Given the description of an element on the screen output the (x, y) to click on. 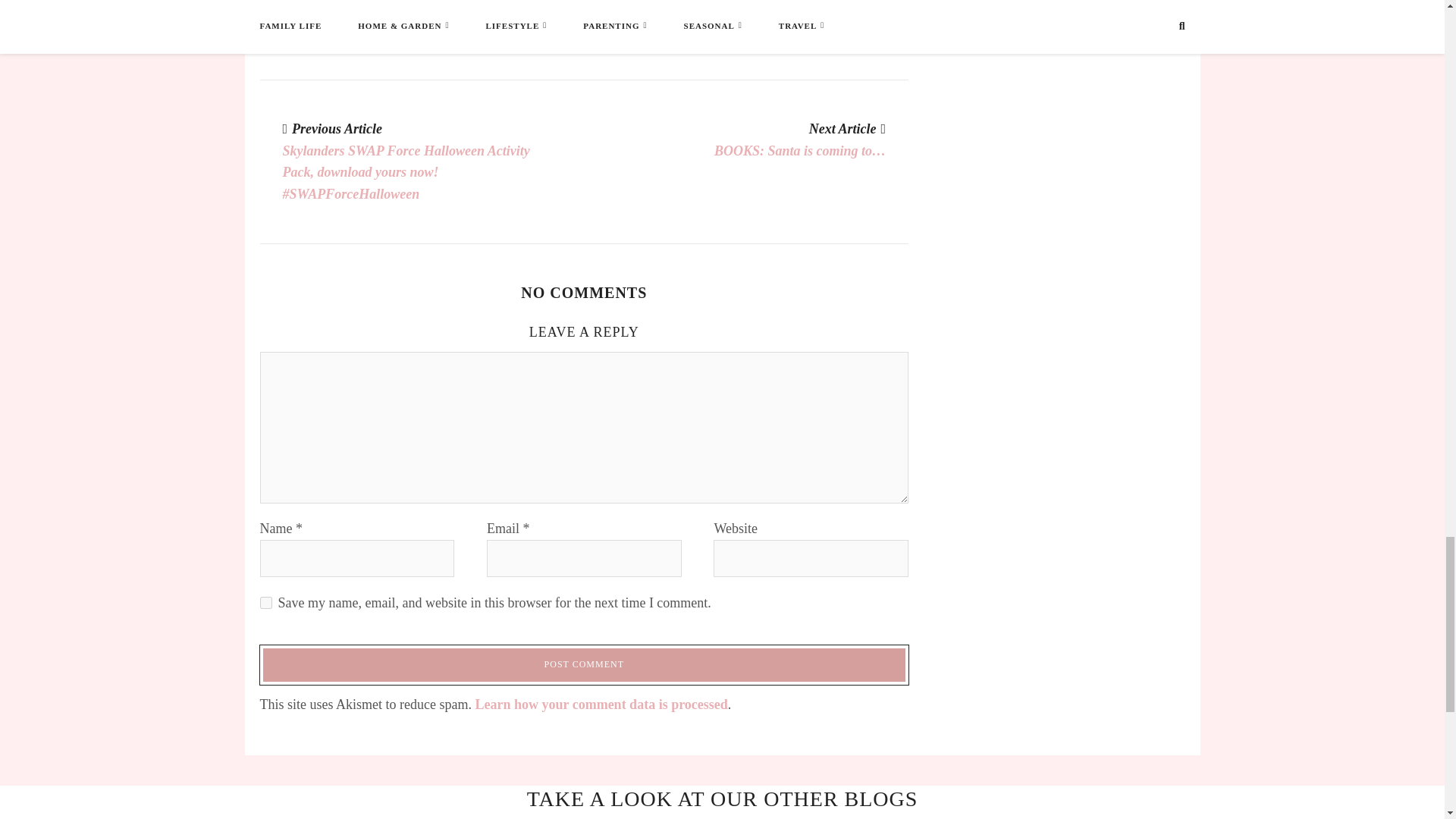
Post Comment (583, 664)
yes (264, 603)
